Given the description of an element on the screen output the (x, y) to click on. 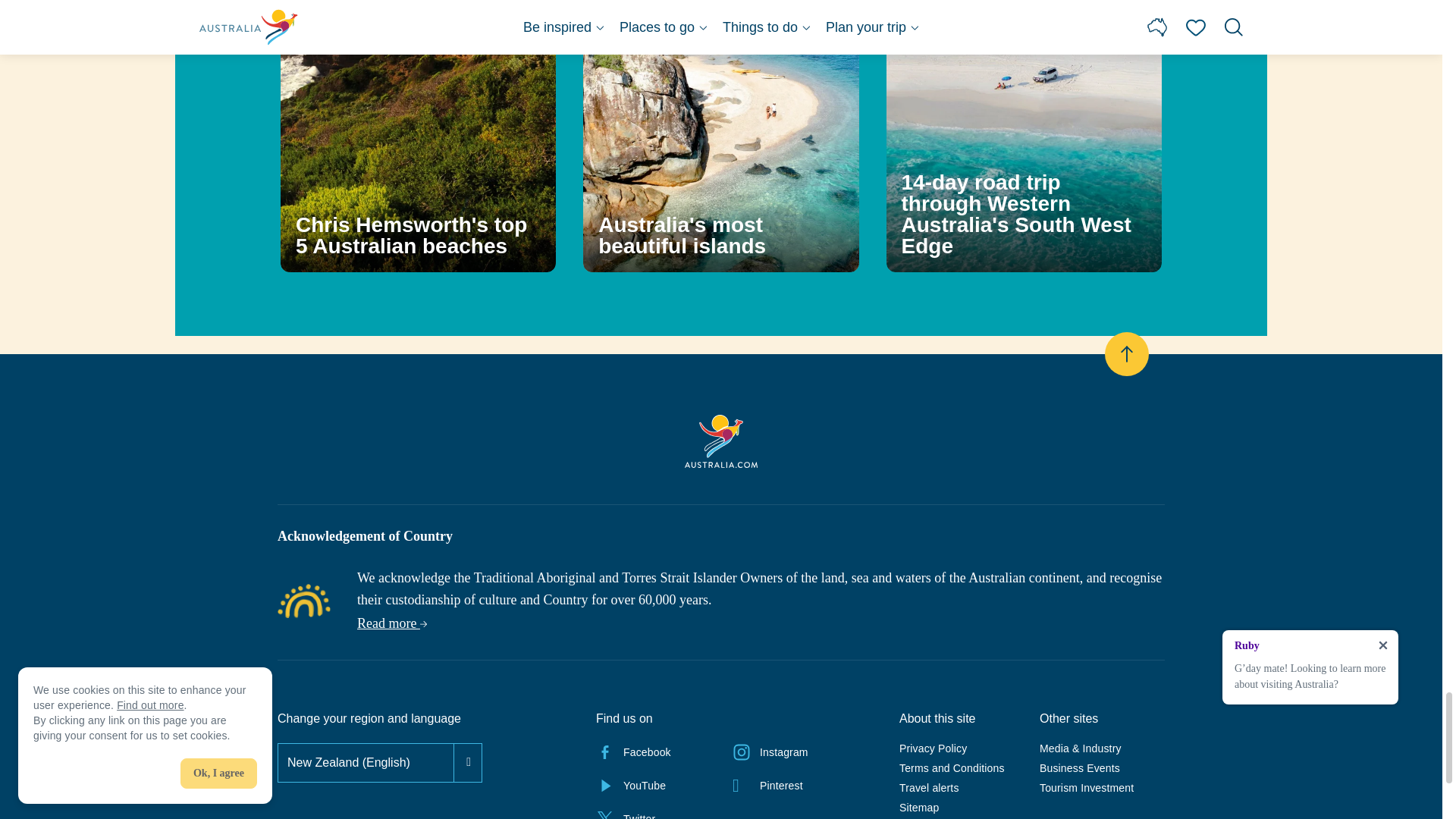
on (279, 745)
